Given the description of an element on the screen output the (x, y) to click on. 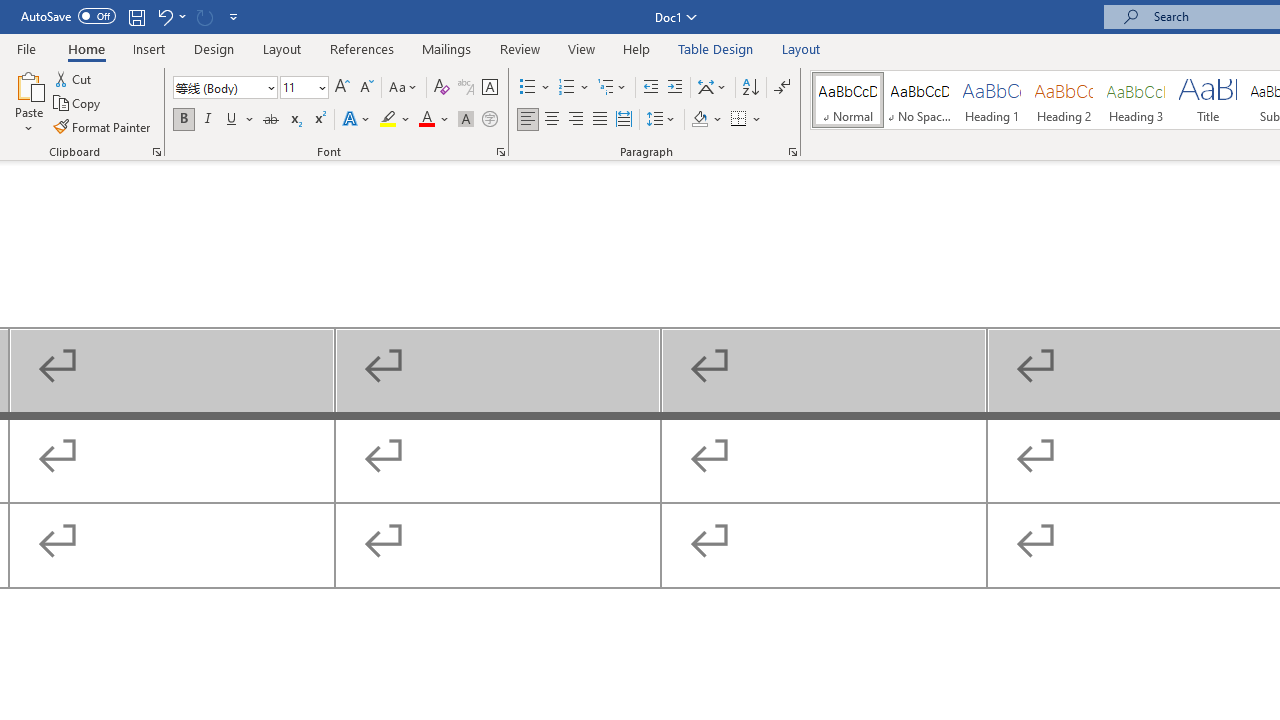
Cut (73, 78)
Enclose Characters... (489, 119)
Undo Outline Move Up (164, 15)
Grow Font (342, 87)
Heading 1 (991, 100)
Format Painter (103, 126)
Shading (706, 119)
Copy (78, 103)
Align Right (575, 119)
Font Color Red (426, 119)
Phonetic Guide... (465, 87)
Title (1208, 100)
